Given the description of an element on the screen output the (x, y) to click on. 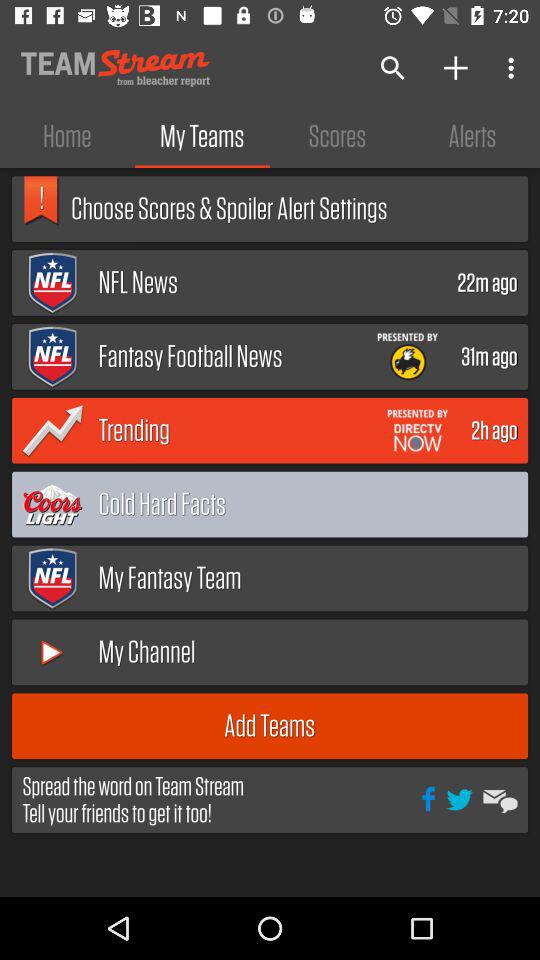
click on more options icon (514, 68)
